Given the description of an element on the screen output the (x, y) to click on. 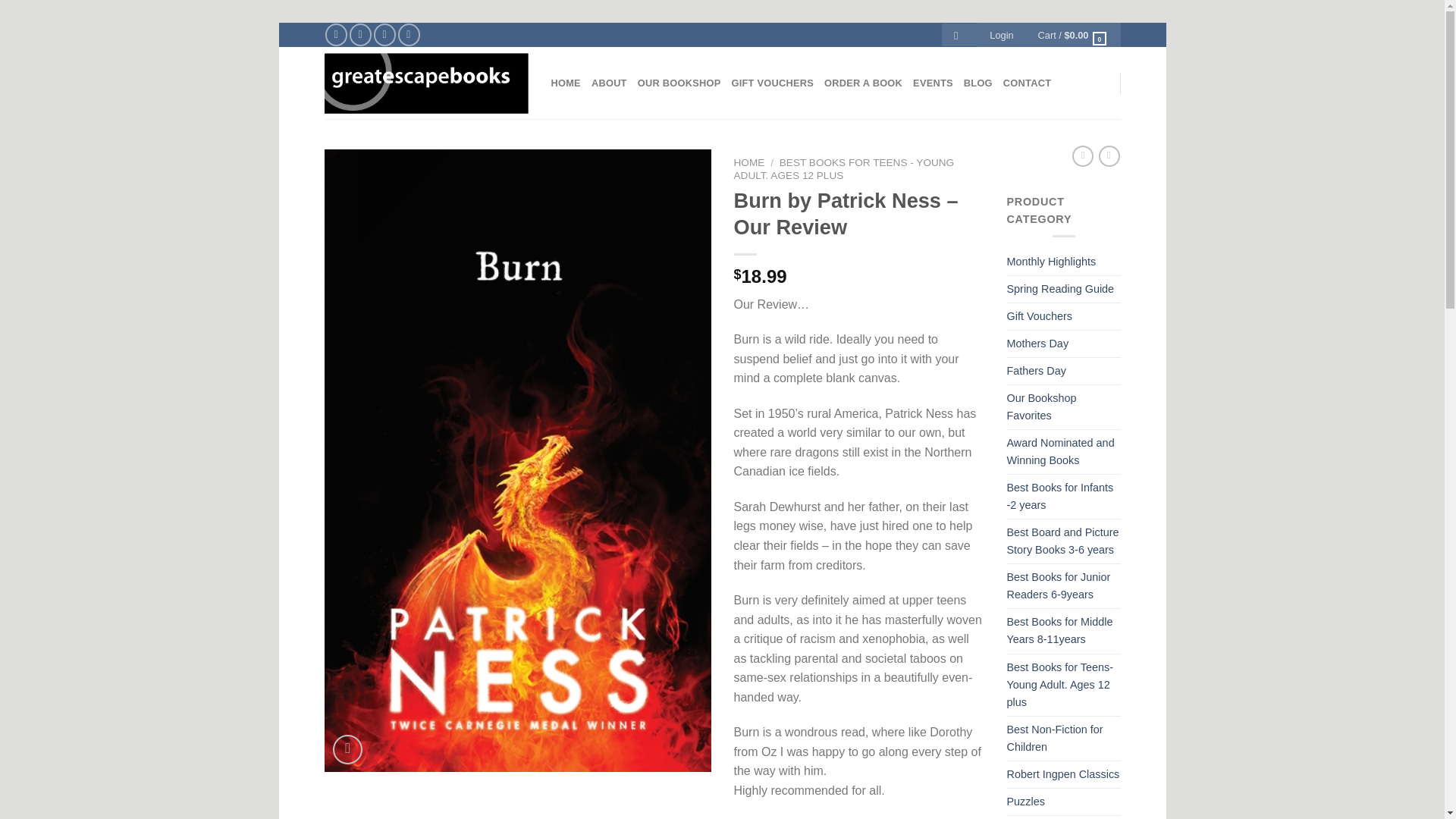
Send us an email (385, 34)
Zoom (347, 749)
Call us (408, 34)
OUR BOOKSHOP (678, 83)
ABOUT (609, 83)
Great Escape Books - Great Ocean Road, Aireys Inlet (426, 83)
HOME (749, 162)
HOME (564, 83)
Follow on Facebook (335, 34)
